Given the description of an element on the screen output the (x, y) to click on. 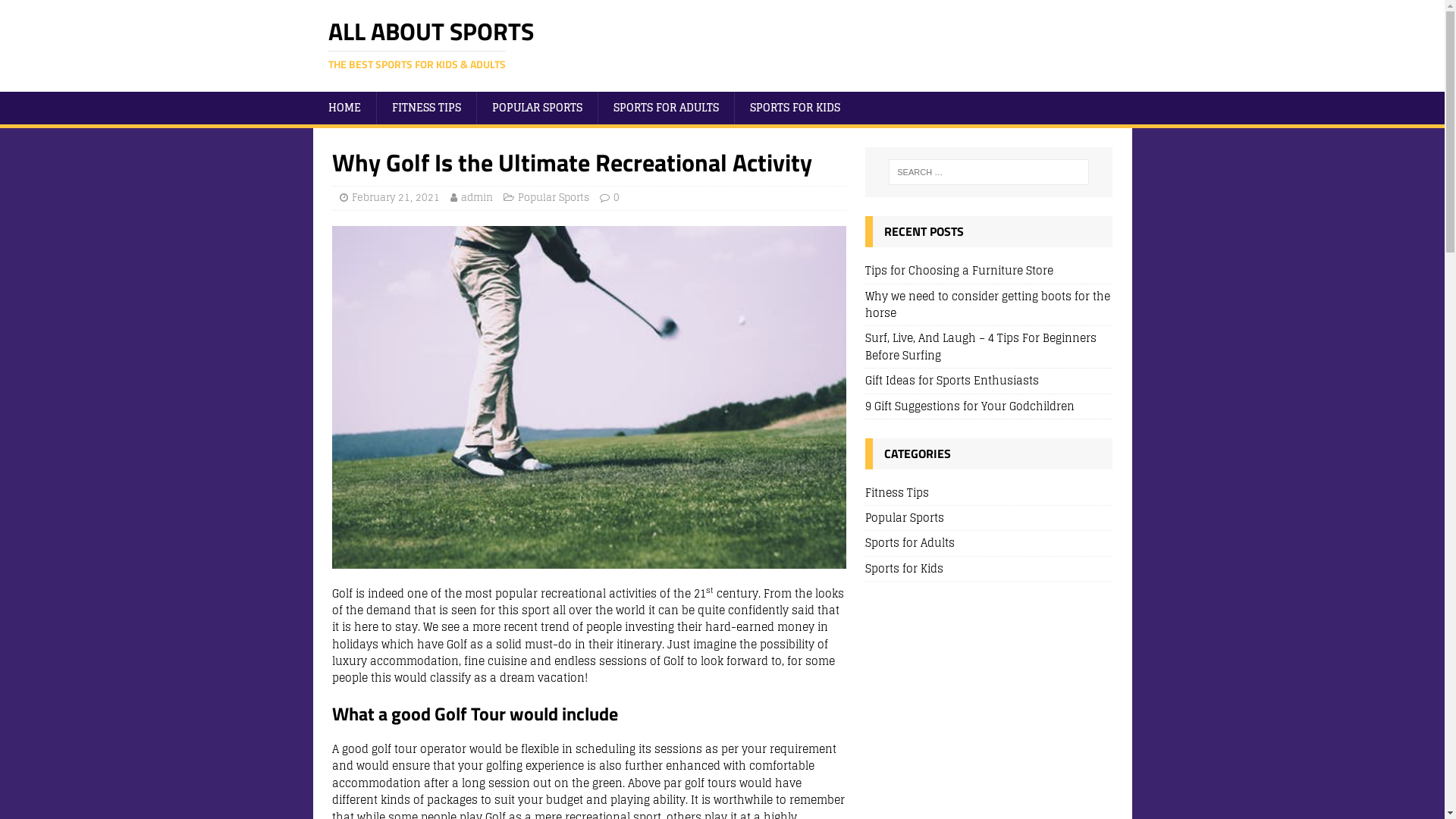
0 Element type: text (615, 197)
Sports for Adults Element type: text (988, 542)
9 Gift Suggestions for Your Godchildren Element type: text (969, 405)
Popular Sports Element type: text (988, 517)
Sports for Kids Element type: text (988, 568)
Why we need to consider getting boots for the horse Element type: text (987, 304)
SPORTS FOR ADULTS Element type: text (665, 107)
46 Element type: hover (589, 396)
SPORTS FOR KIDS Element type: text (794, 107)
HOME Element type: text (343, 107)
admin Element type: text (476, 197)
ALL ABOUT SPORTS
THE BEST SPORTS FOR KIDS & ADULTS Element type: text (721, 45)
POPULAR SPORTS Element type: text (536, 107)
Search Element type: text (56, 11)
Tips for Choosing a Furniture Store Element type: text (959, 269)
Fitness Tips Element type: text (988, 494)
February 21, 2021 Element type: text (395, 197)
Gift Ideas for Sports Enthusiasts Element type: text (951, 379)
FITNESS TIPS Element type: text (426, 107)
Popular Sports Element type: text (552, 197)
